Given the description of an element on the screen output the (x, y) to click on. 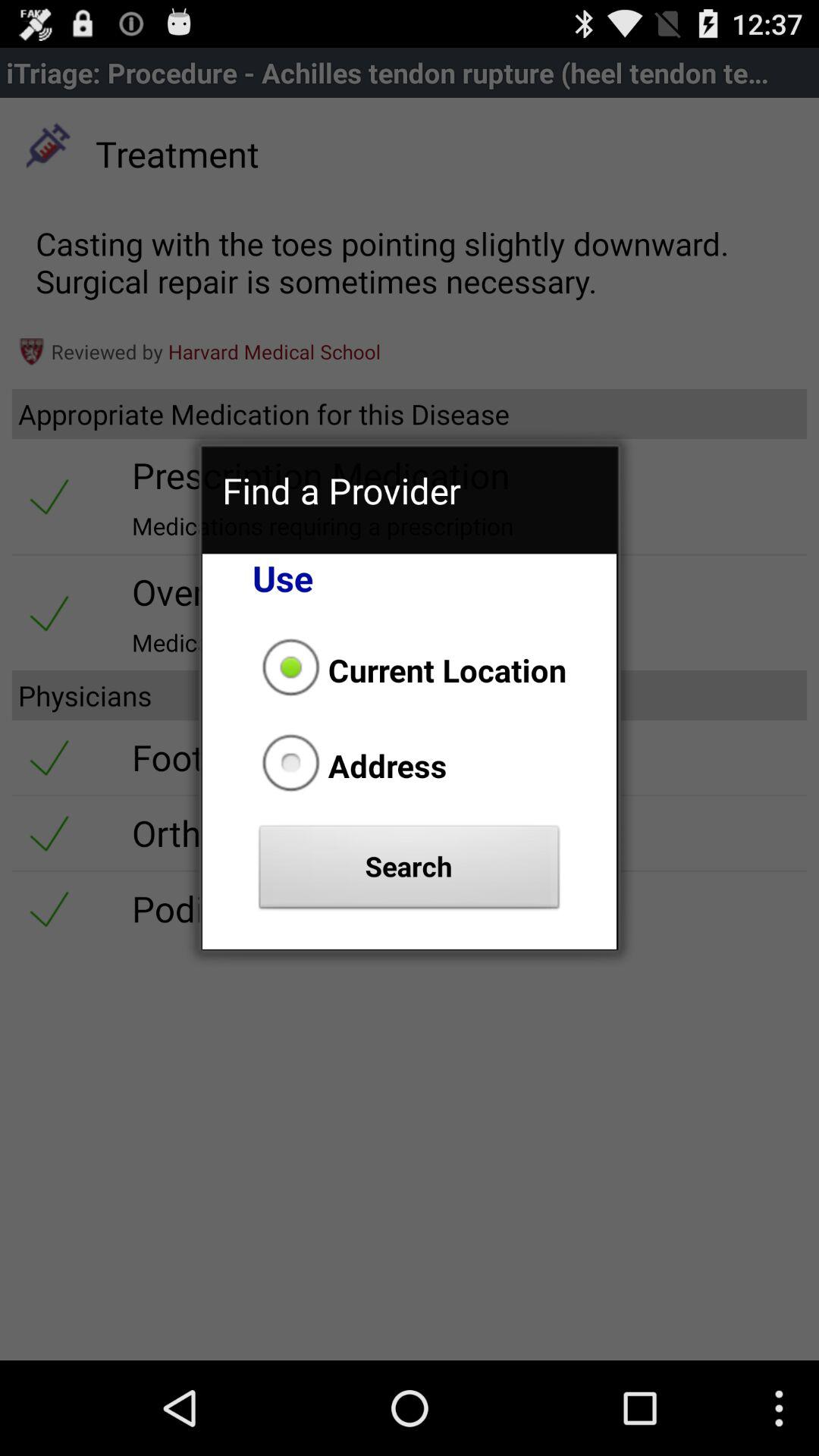
launch button above the search icon (349, 765)
